Given the description of an element on the screen output the (x, y) to click on. 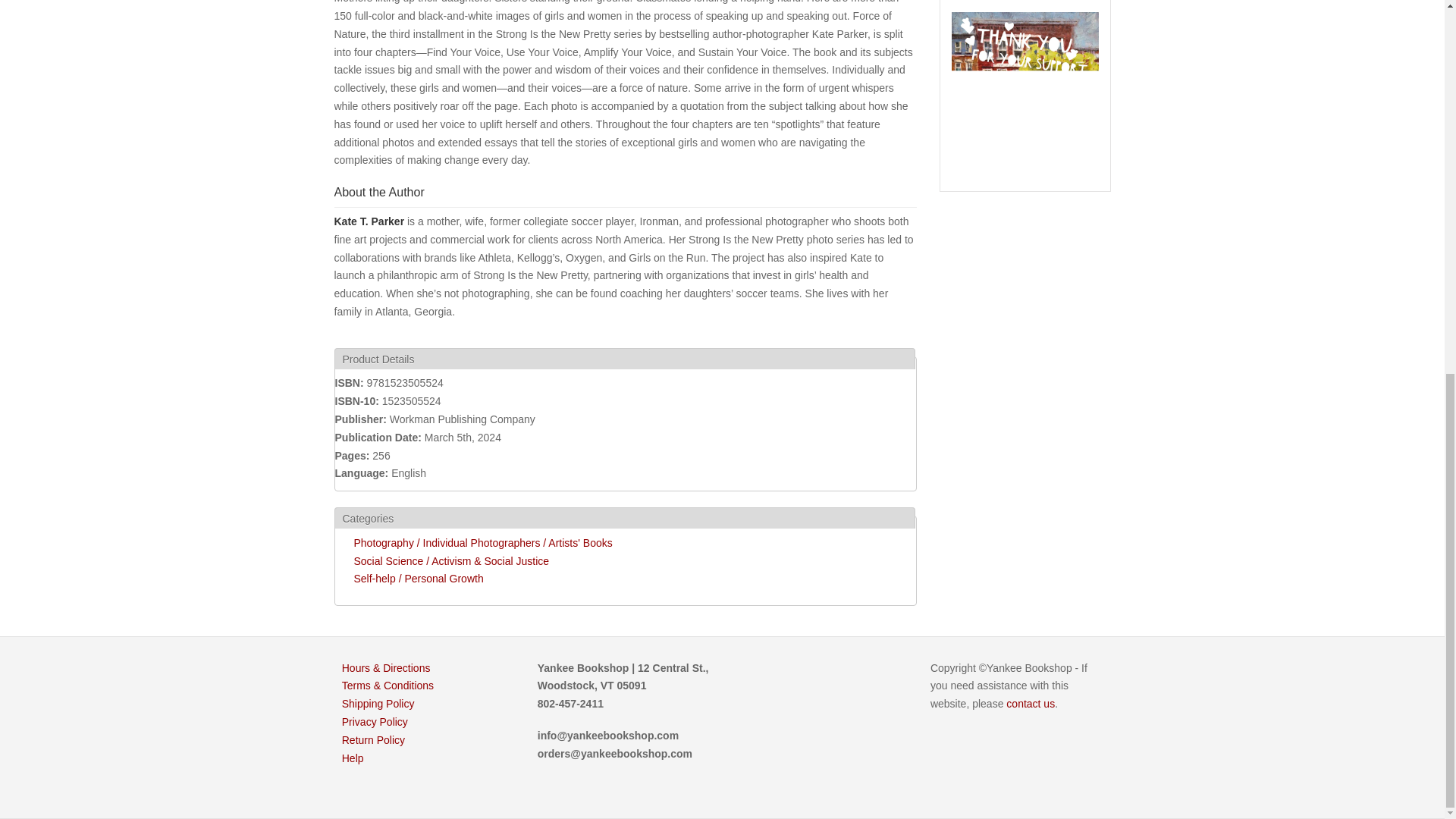
Help (353, 758)
Shipping Policy (378, 703)
Return Policy (373, 739)
Privacy Policy (374, 721)
contact us (1030, 703)
